Given the description of an element on the screen output the (x, y) to click on. 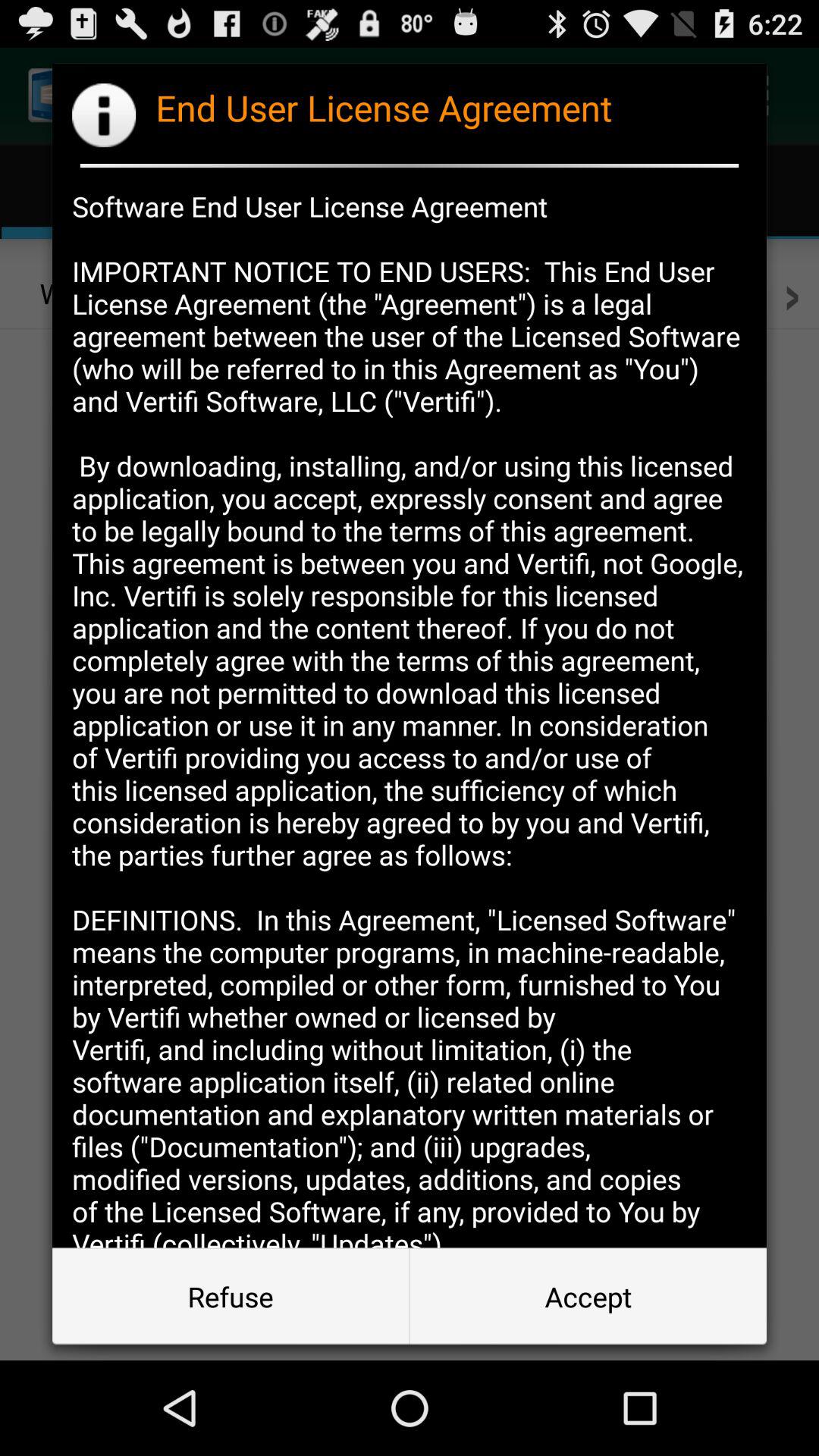
swipe to the accept item (588, 1296)
